Given the description of an element on the screen output the (x, y) to click on. 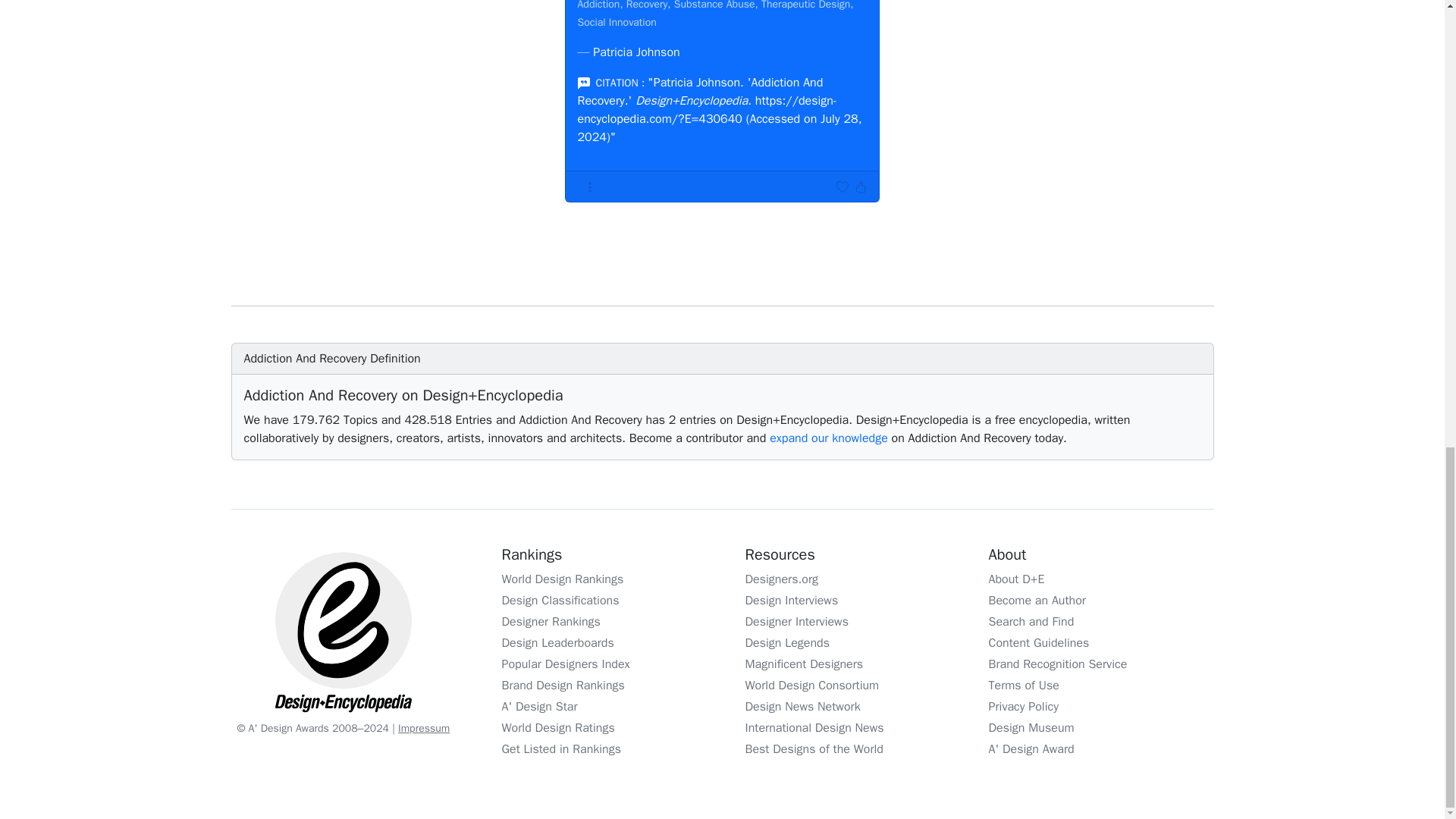
Get Listed in Rankings (561, 749)
Content Guidelines (1038, 642)
Design Museum (1031, 727)
World Design Ratings (558, 727)
Design Classifications (561, 600)
Become an Author (1037, 600)
A' Design Star (540, 706)
A' Design Award (1031, 749)
Brand Recognition Service (1057, 663)
Terms of Use (1023, 685)
Best Designs of the World (813, 749)
Designer Rankings (550, 621)
Popular Designers Index (566, 663)
Design News Network (802, 706)
Privacy Policy (1023, 706)
